Given the description of an element on the screen output the (x, y) to click on. 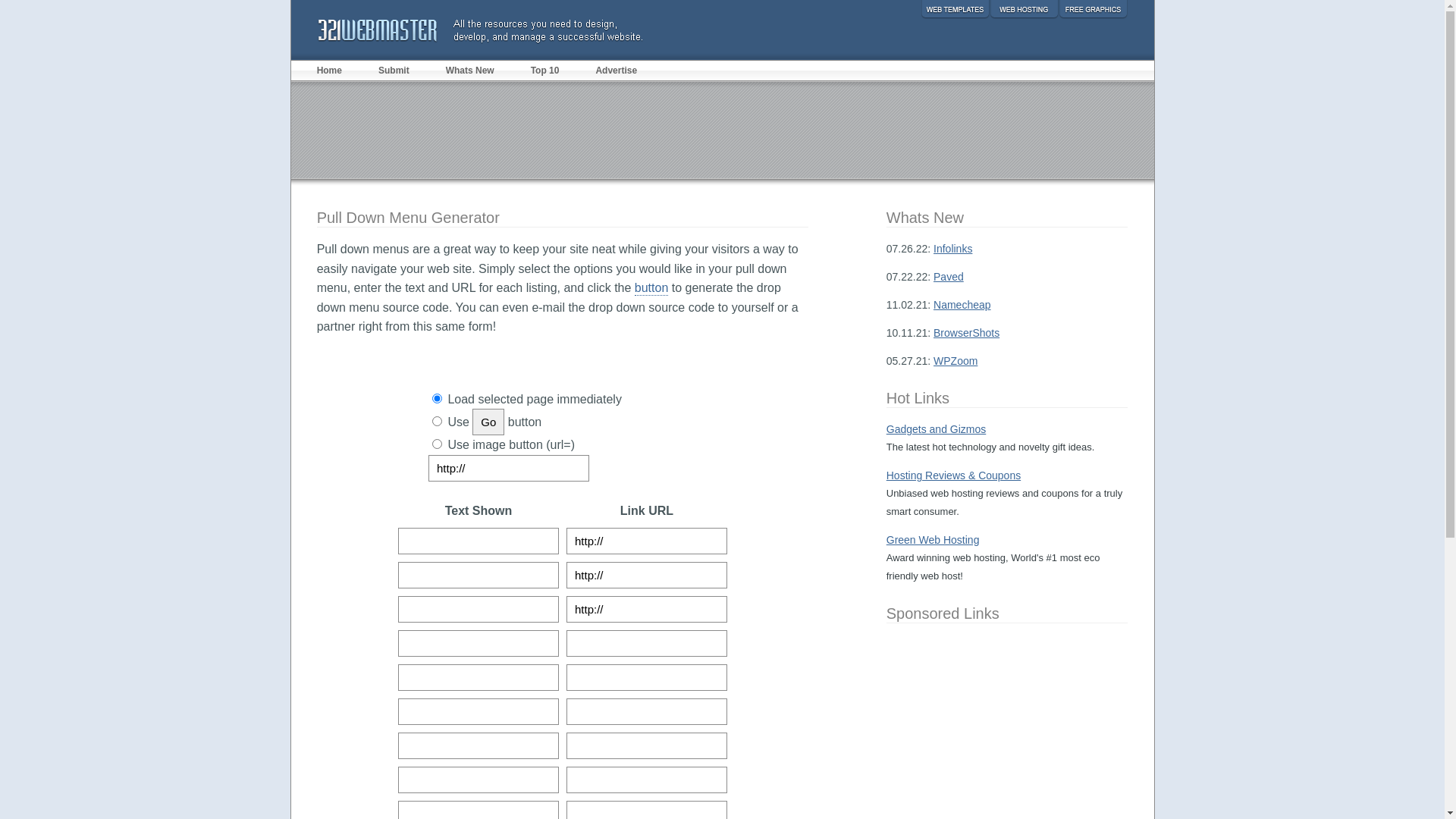
Free Graphics Element type: hover (1092, 9)
Submit Element type: text (393, 69)
WPZoom Element type: text (955, 360)
Hosting Reviews & Coupons Element type: text (953, 475)
Namecheap Element type: text (962, 304)
Advertise Element type: text (616, 69)
Whats New Element type: text (469, 69)
Top 10 Element type: text (544, 69)
Infolinks Element type: text (952, 248)
BrowserShots Element type: text (966, 332)
Advertisement Element type: hover (722, 129)
Web Templates Element type: hover (954, 9)
Paved Element type: text (948, 276)
Web Hosting Element type: hover (1023, 9)
Green Web Hosting Element type: text (932, 539)
Gadgets and Gizmos Element type: text (936, 429)
Home Element type: text (338, 69)
